Given the description of an element on the screen output the (x, y) to click on. 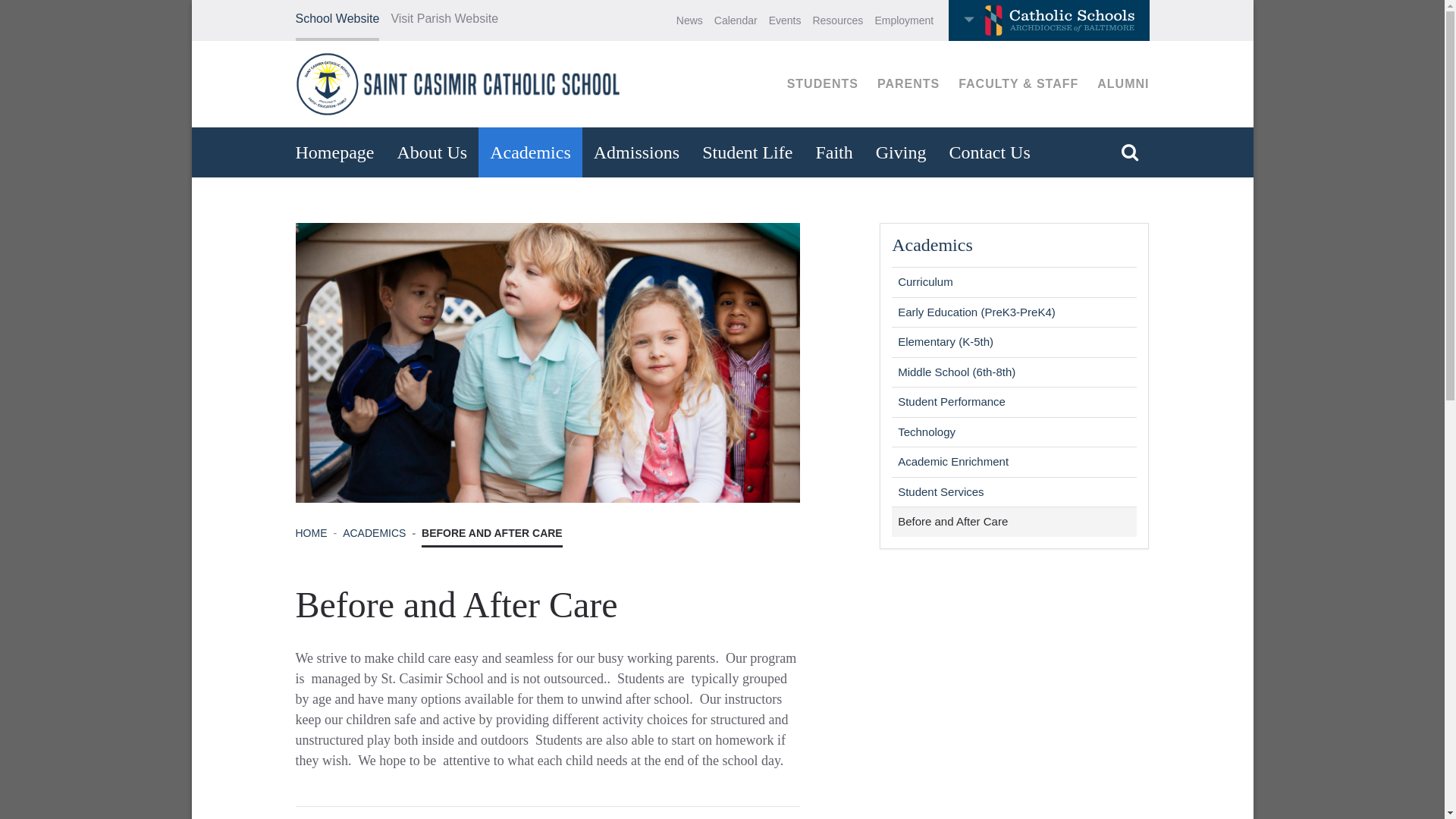
PARENTS (908, 83)
Resources (837, 20)
Events (785, 20)
News (690, 20)
Calendar (735, 20)
Admissions (636, 152)
ALUMNI (1122, 83)
About Us (432, 152)
Student Life (746, 152)
Employment (904, 20)
